Given the description of an element on the screen output the (x, y) to click on. 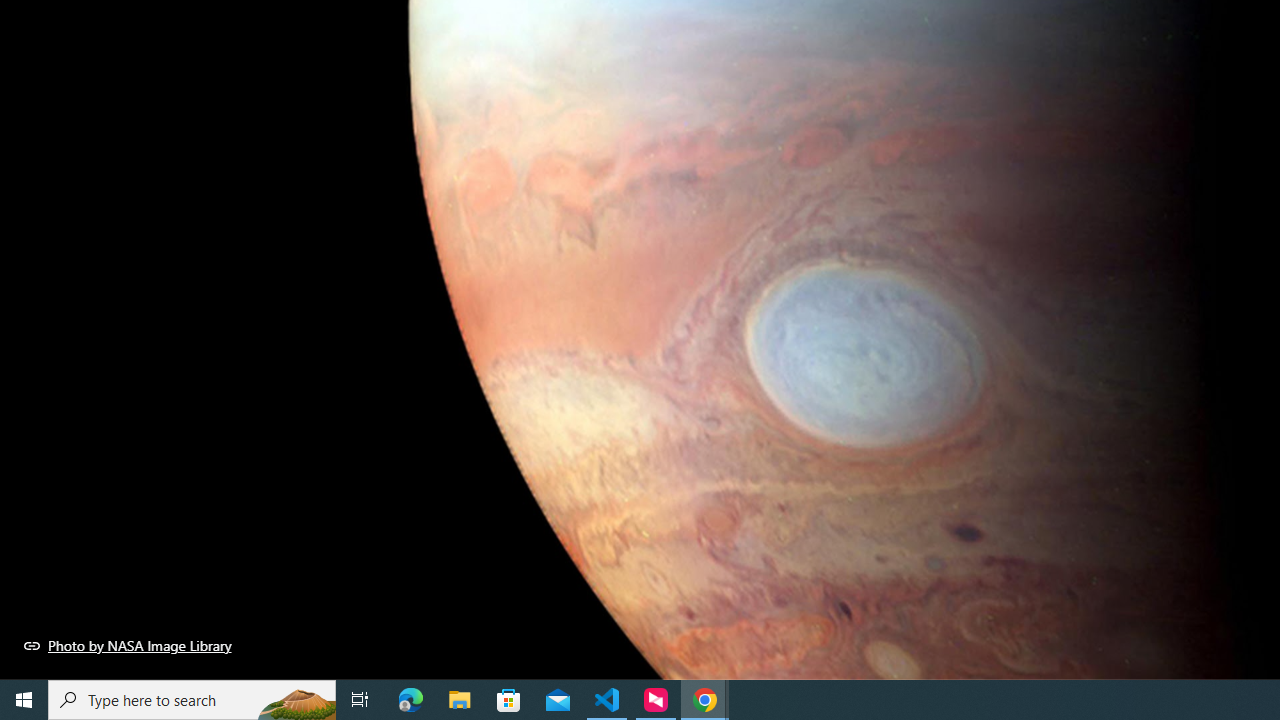
Photo by NASA Image Library (127, 645)
